Given the description of an element on the screen output the (x, y) to click on. 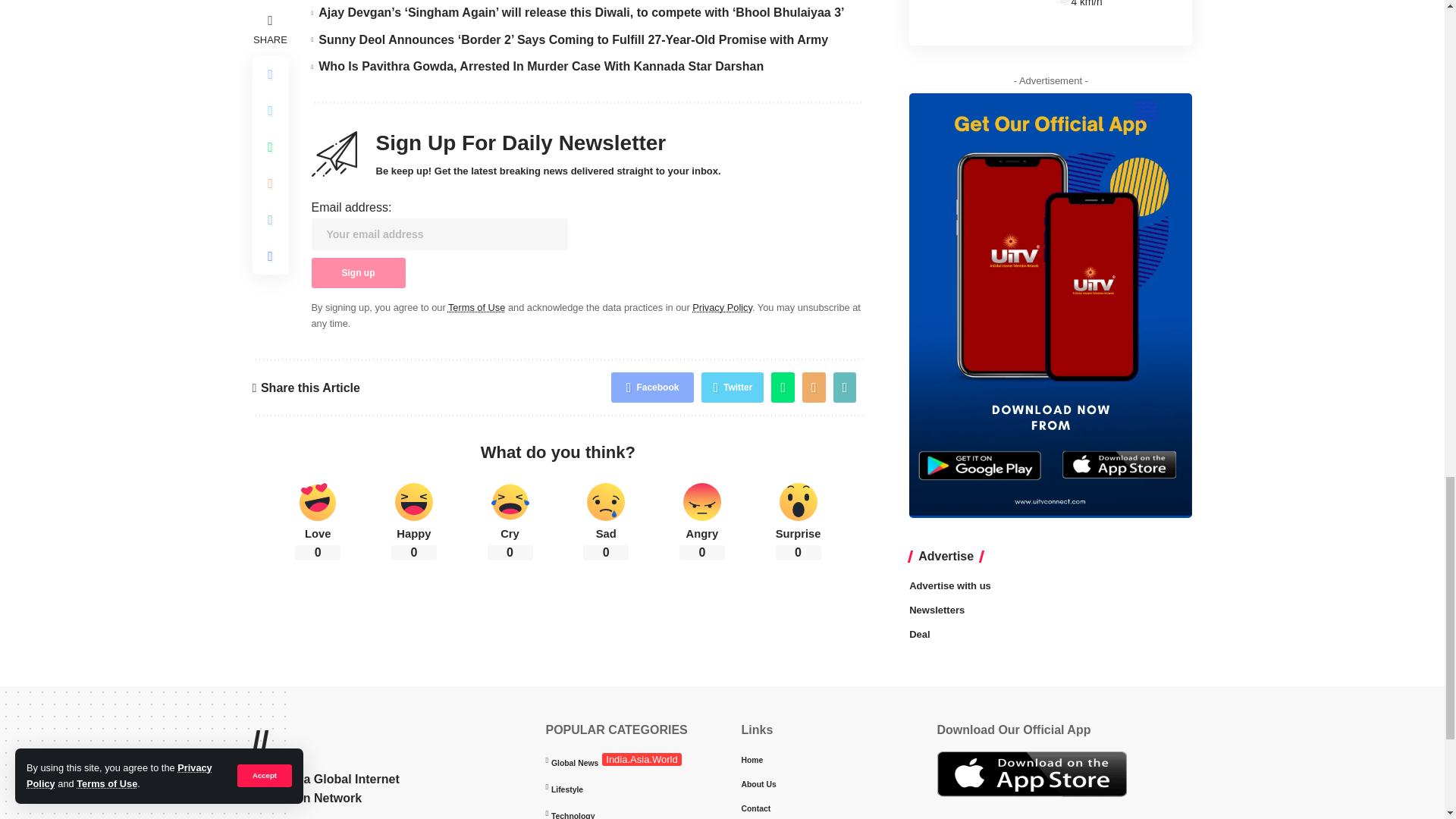
Sign up (357, 272)
